Given the description of an element on the screen output the (x, y) to click on. 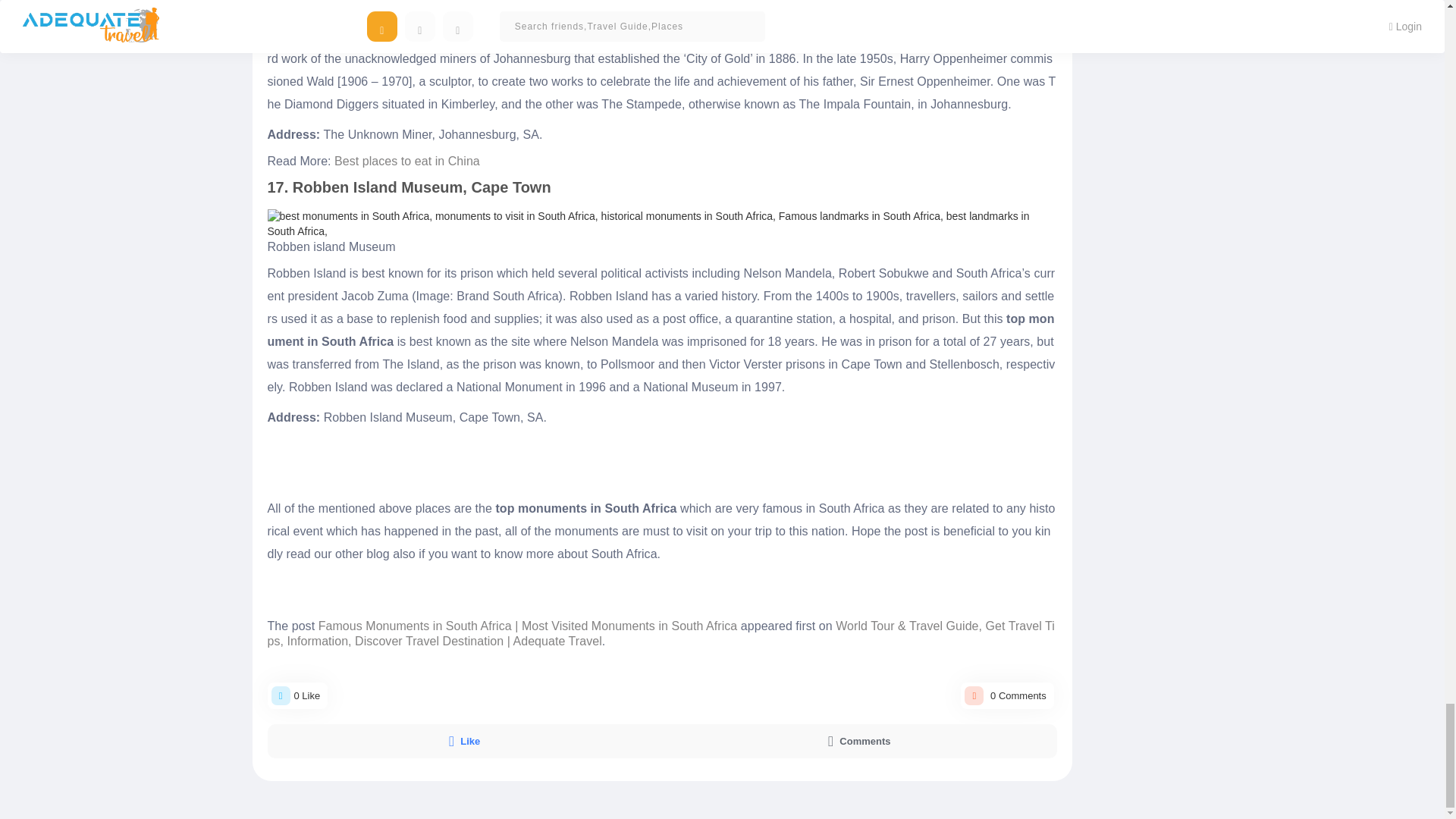
Best places to eat in China (407, 160)
